Given the description of an element on the screen output the (x, y) to click on. 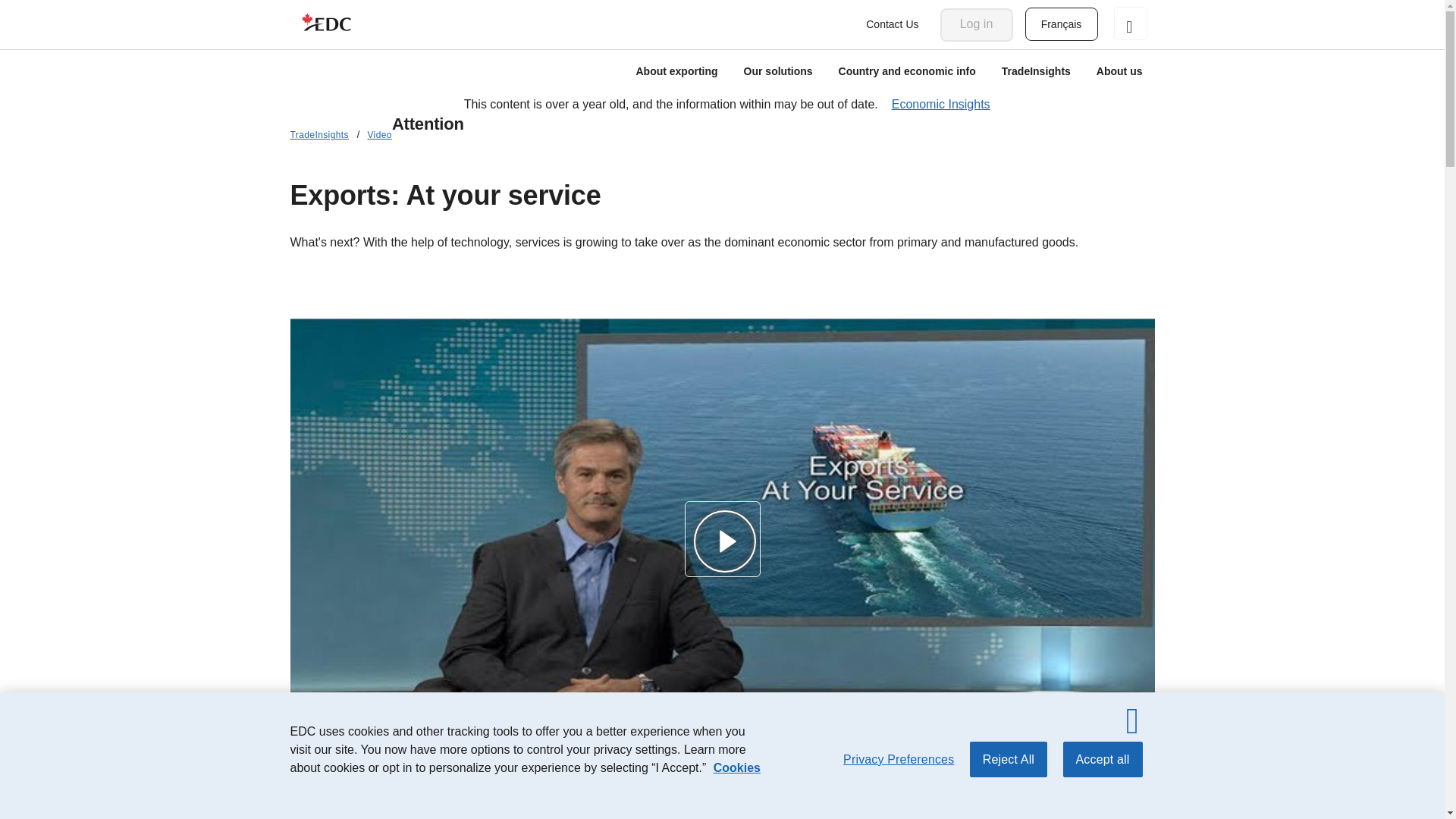
Log in (976, 23)
Our solutions (778, 72)
About exporting (676, 72)
Contact Us (892, 24)
